Given the description of an element on the screen output the (x, y) to click on. 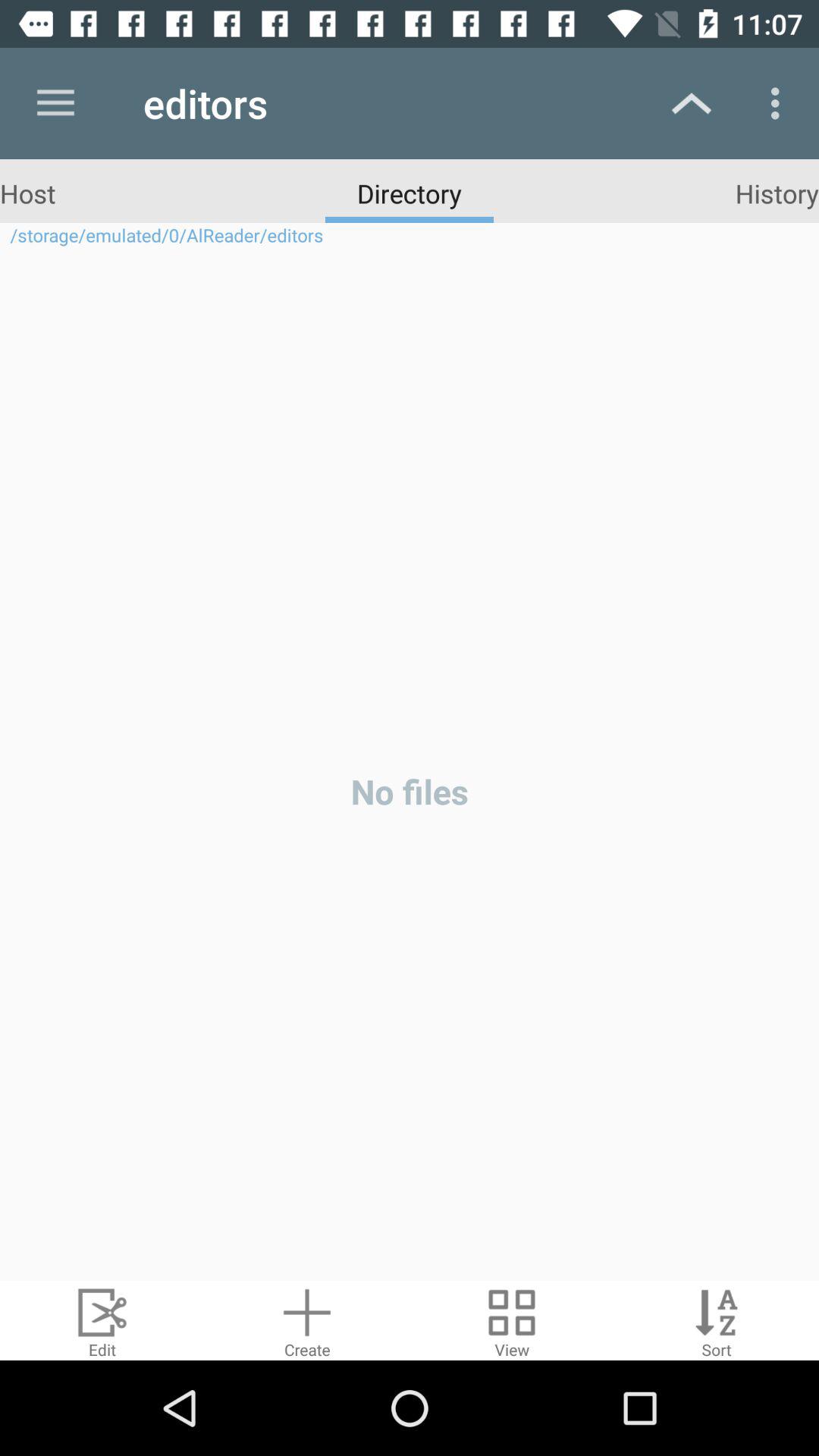
display your files (511, 1320)
